Given the description of an element on the screen output the (x, y) to click on. 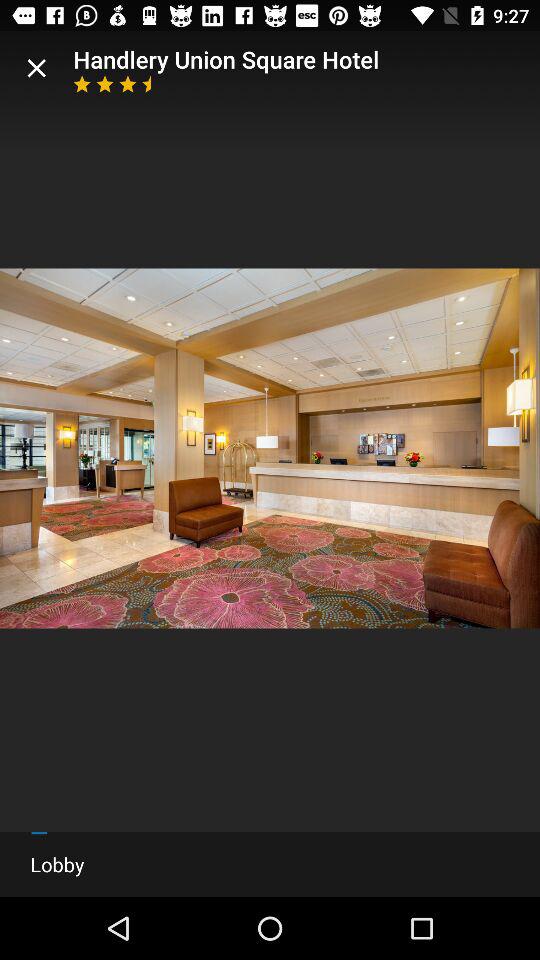
turn off item next to the handlery union square item (36, 68)
